Given the description of an element on the screen output the (x, y) to click on. 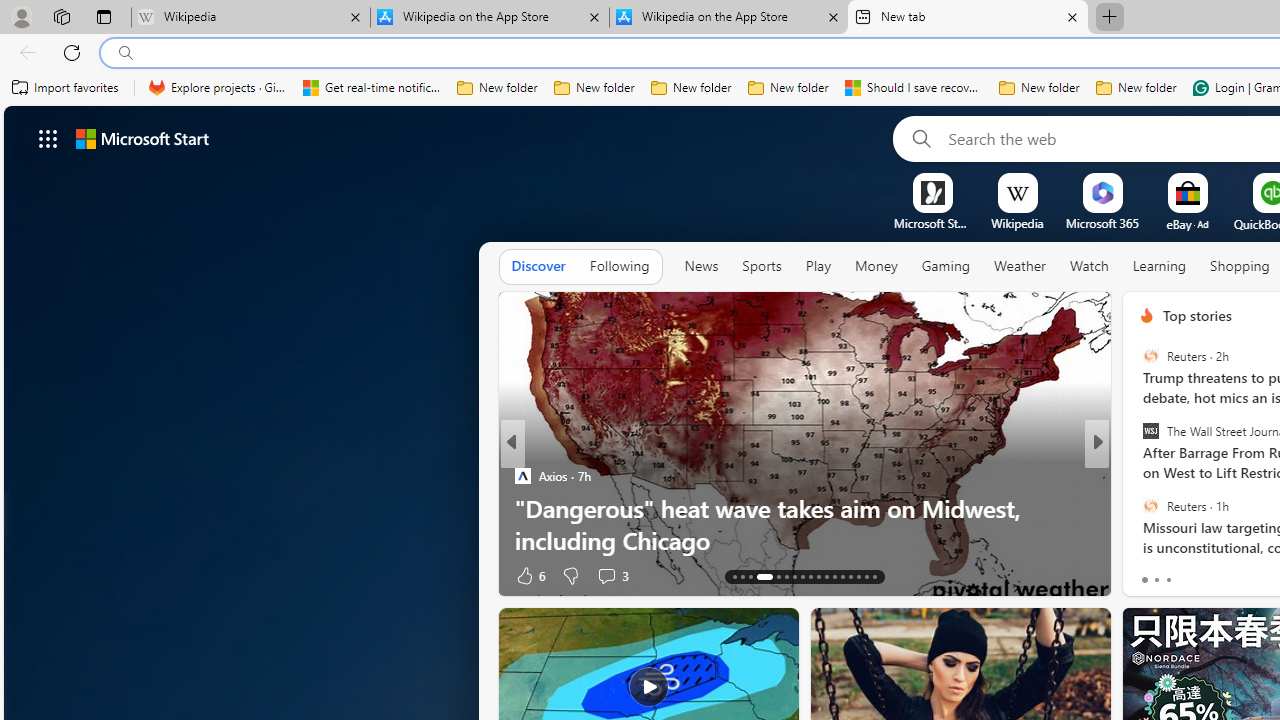
tab-1 (1156, 579)
View comments 33 Comment (1234, 575)
Groovy Era (1138, 507)
View comments 6 Comment (1241, 574)
AutomationID: tab-28 (865, 576)
AutomationID: tab-27 (857, 576)
AutomationID: tab-14 (742, 576)
 UPI News (1138, 475)
Search icon (125, 53)
AutomationID: tab-15 (750, 576)
The Weather Channel (1138, 475)
149 Like (1151, 574)
